Given the description of an element on the screen output the (x, y) to click on. 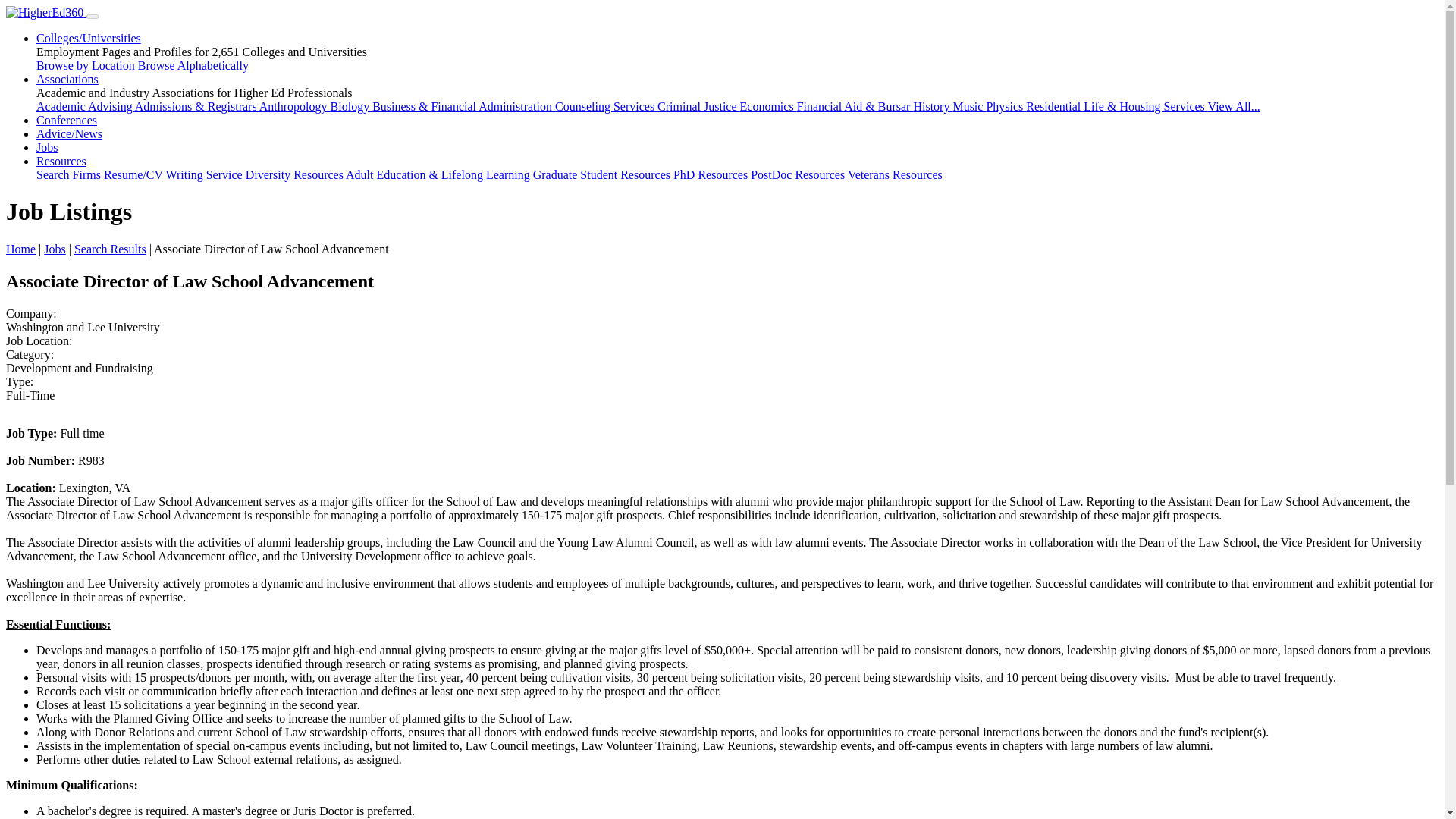
Biology (351, 106)
Diversity Resources (294, 174)
Anthropology (294, 106)
Browse Alphabetically (193, 65)
Conferences (66, 119)
PhD Resources (710, 174)
Veterans Resources (894, 174)
Criminal Justice (698, 106)
Physics (1005, 106)
Music (968, 106)
Academic Advising (85, 106)
History (932, 106)
Associations (67, 78)
Counseling Services (606, 106)
Home (19, 248)
